Given the description of an element on the screen output the (x, y) to click on. 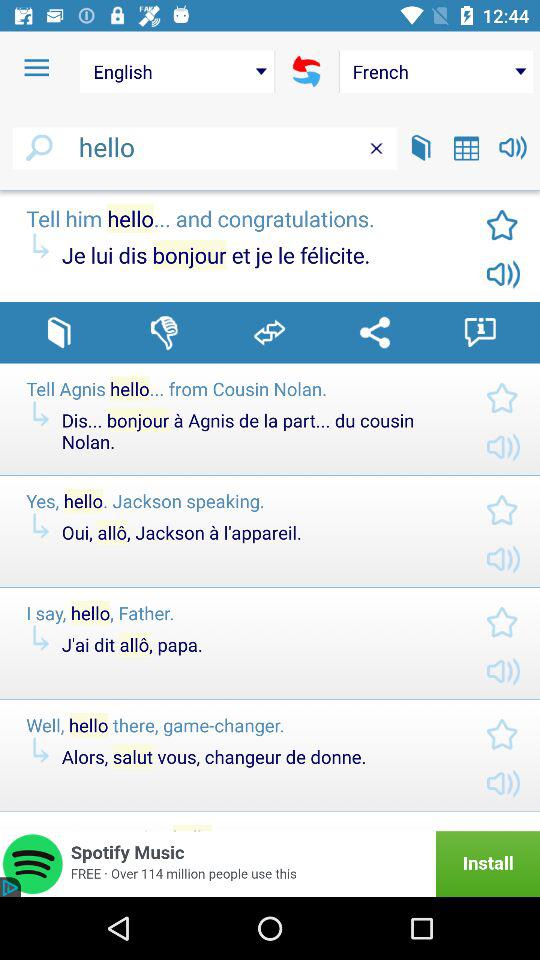
share post (269, 332)
